Given the description of an element on the screen output the (x, y) to click on. 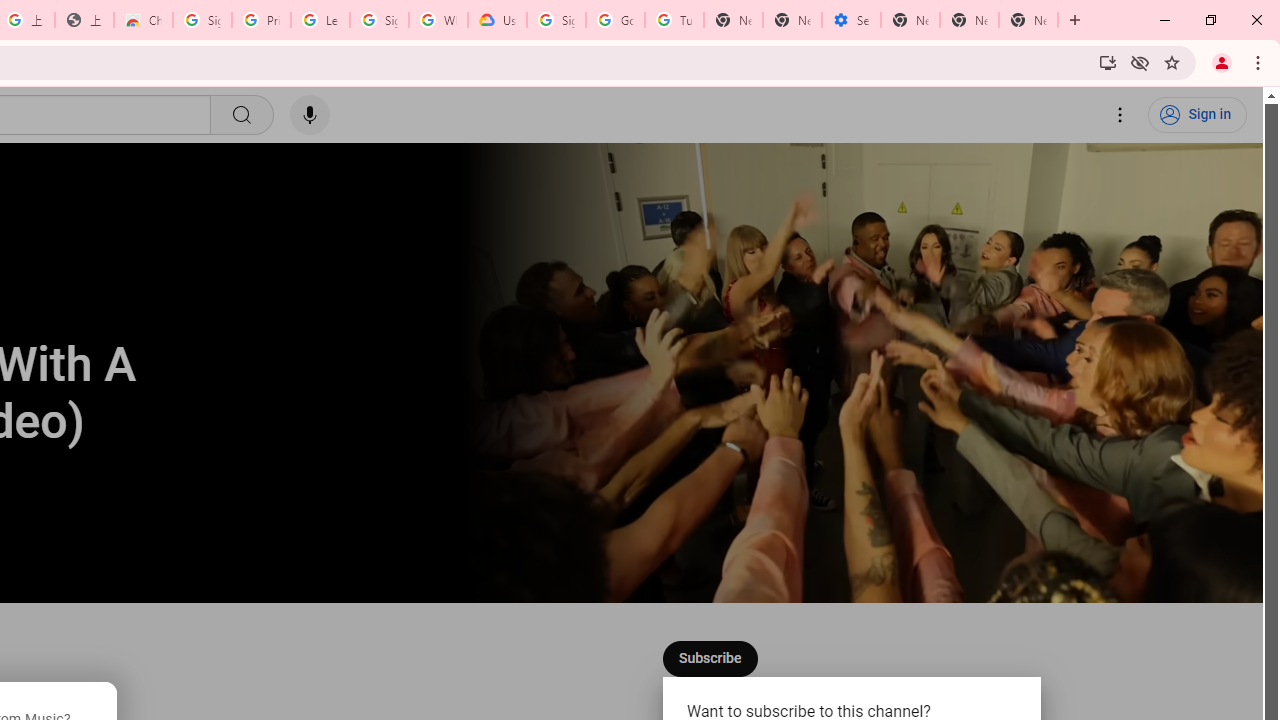
Sign in - Google Accounts (201, 20)
Sign in - Google Accounts (556, 20)
Search with your voice (309, 115)
New Tab (1028, 20)
New Tab (909, 20)
Subscribe to Music. (709, 658)
